Given the description of an element on the screen output the (x, y) to click on. 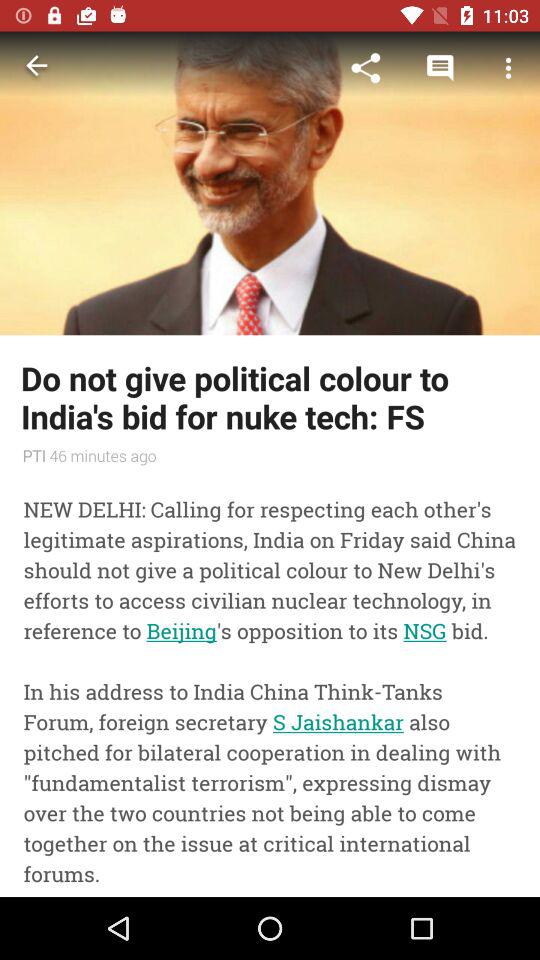
turn off new delhi calling icon (270, 683)
